Given the description of an element on the screen output the (x, y) to click on. 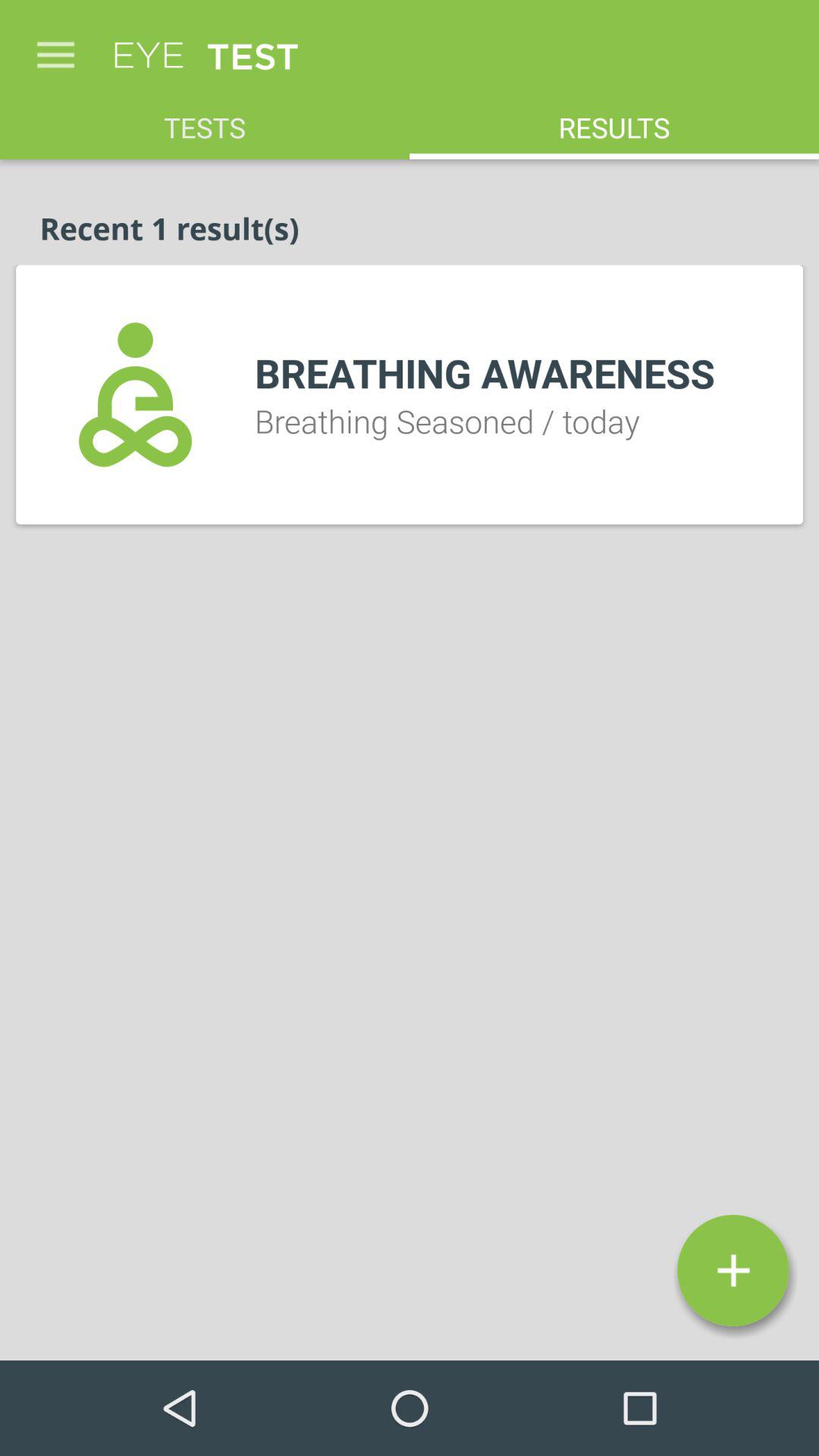
press results (614, 119)
